Given the description of an element on the screen output the (x, y) to click on. 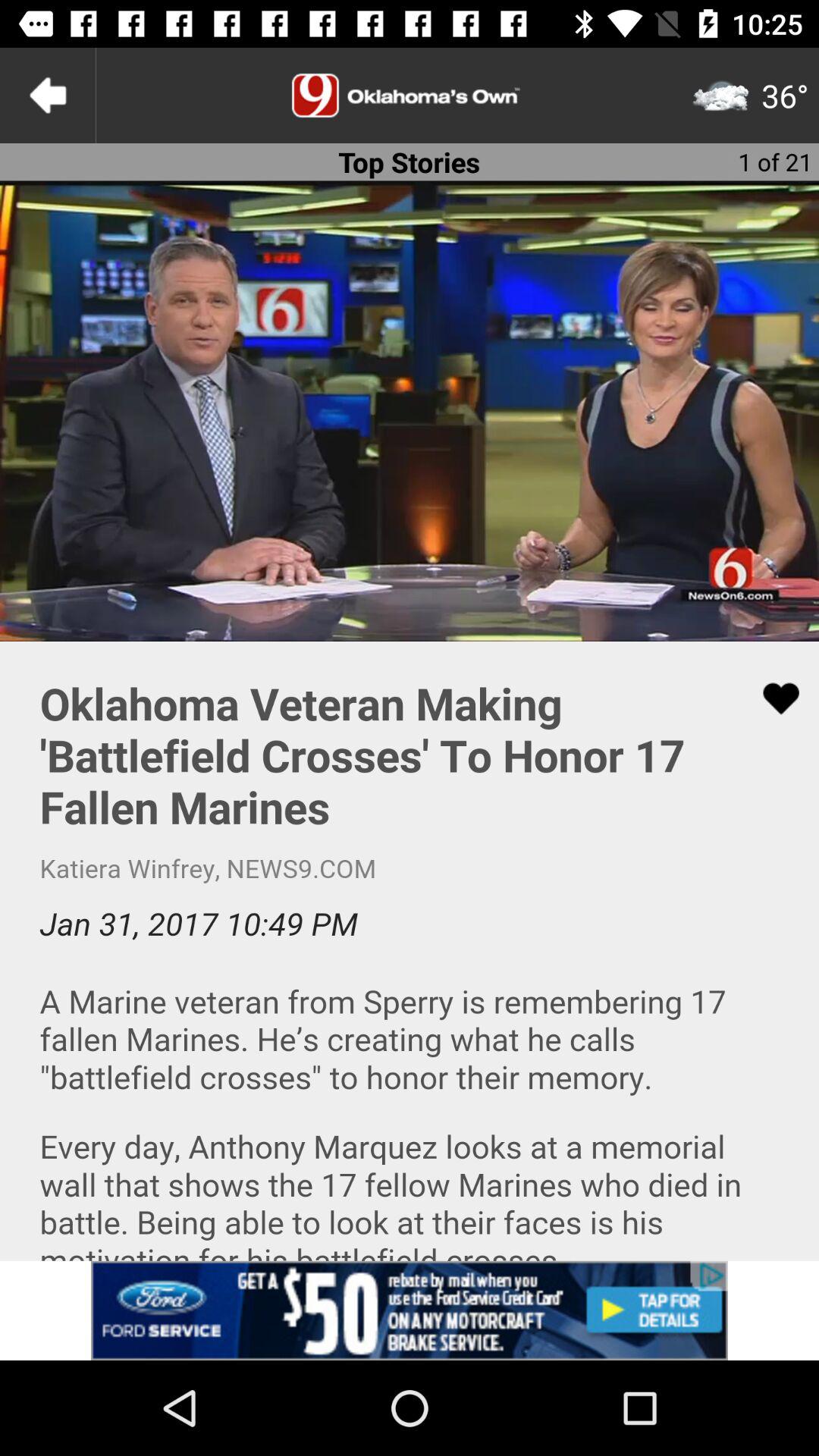
go to previous (47, 95)
